Given the description of an element on the screen output the (x, y) to click on. 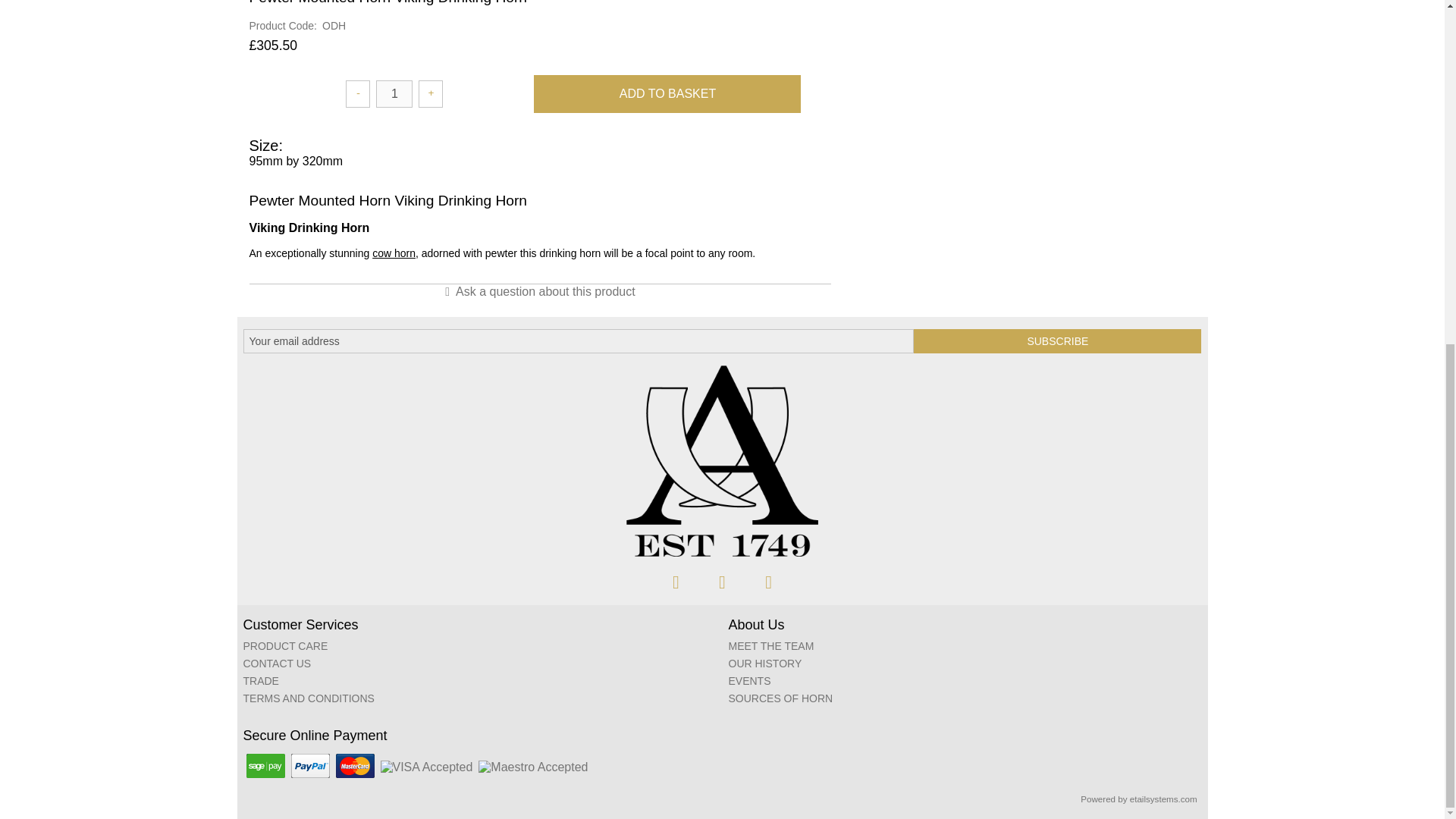
Your email address (578, 340)
Subscribe (1057, 340)
1 (393, 93)
Add to Basket (667, 94)
